Given the description of an element on the screen output the (x, y) to click on. 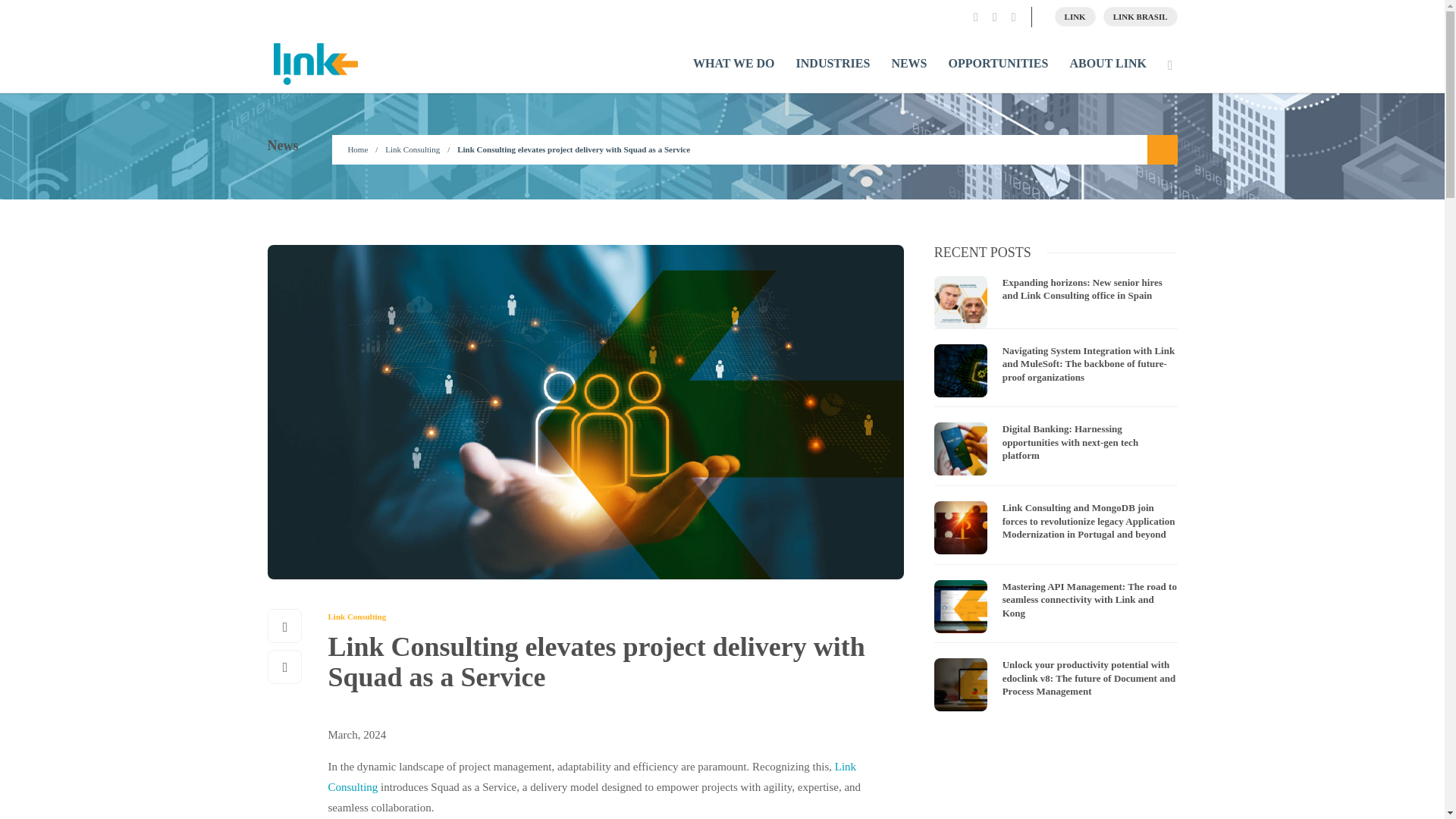
Home (357, 148)
